Given the description of an element on the screen output the (x, y) to click on. 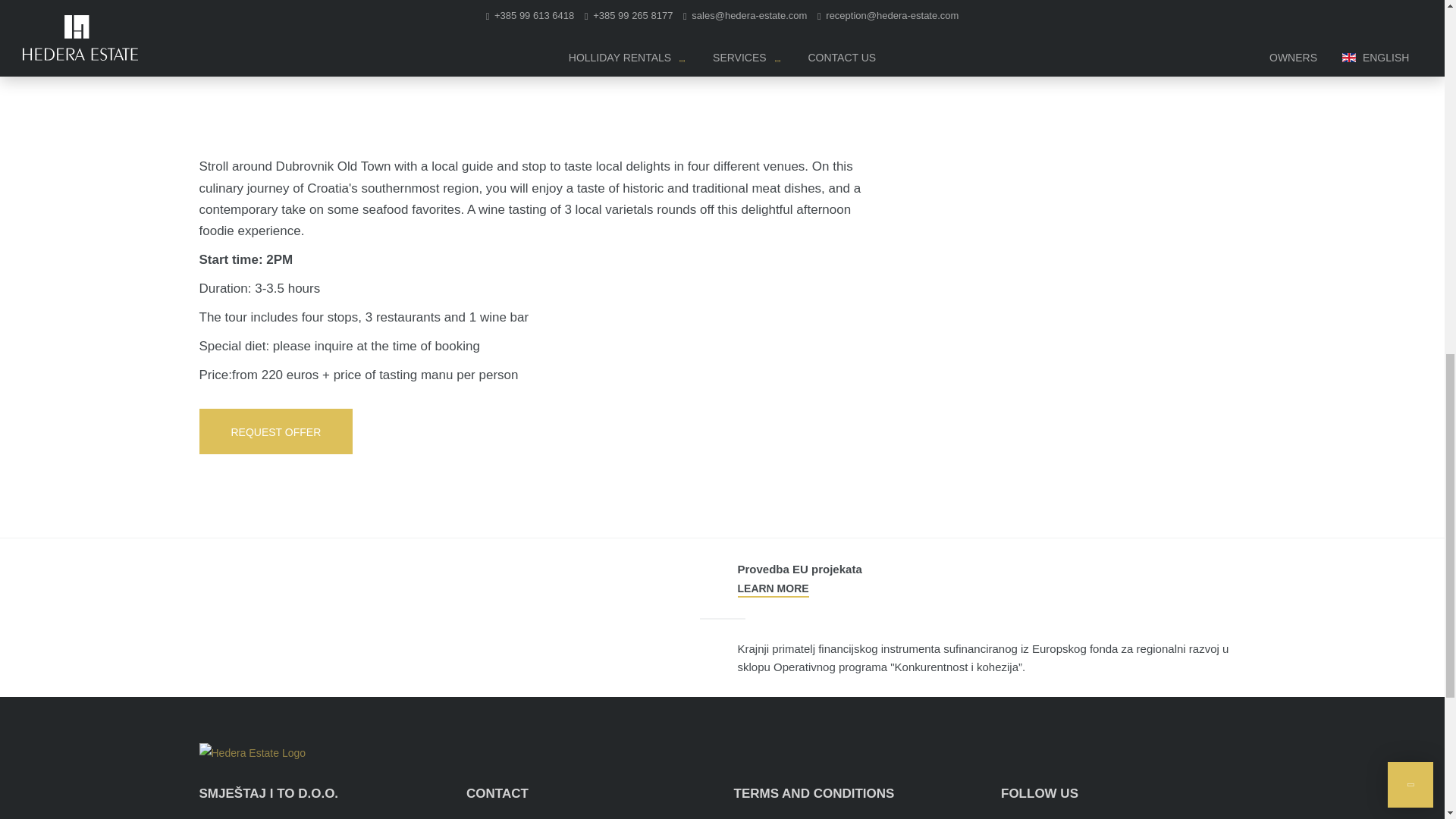
LEARN MORE (772, 588)
REQUEST OFFER (275, 431)
